Given the description of an element on the screen output the (x, y) to click on. 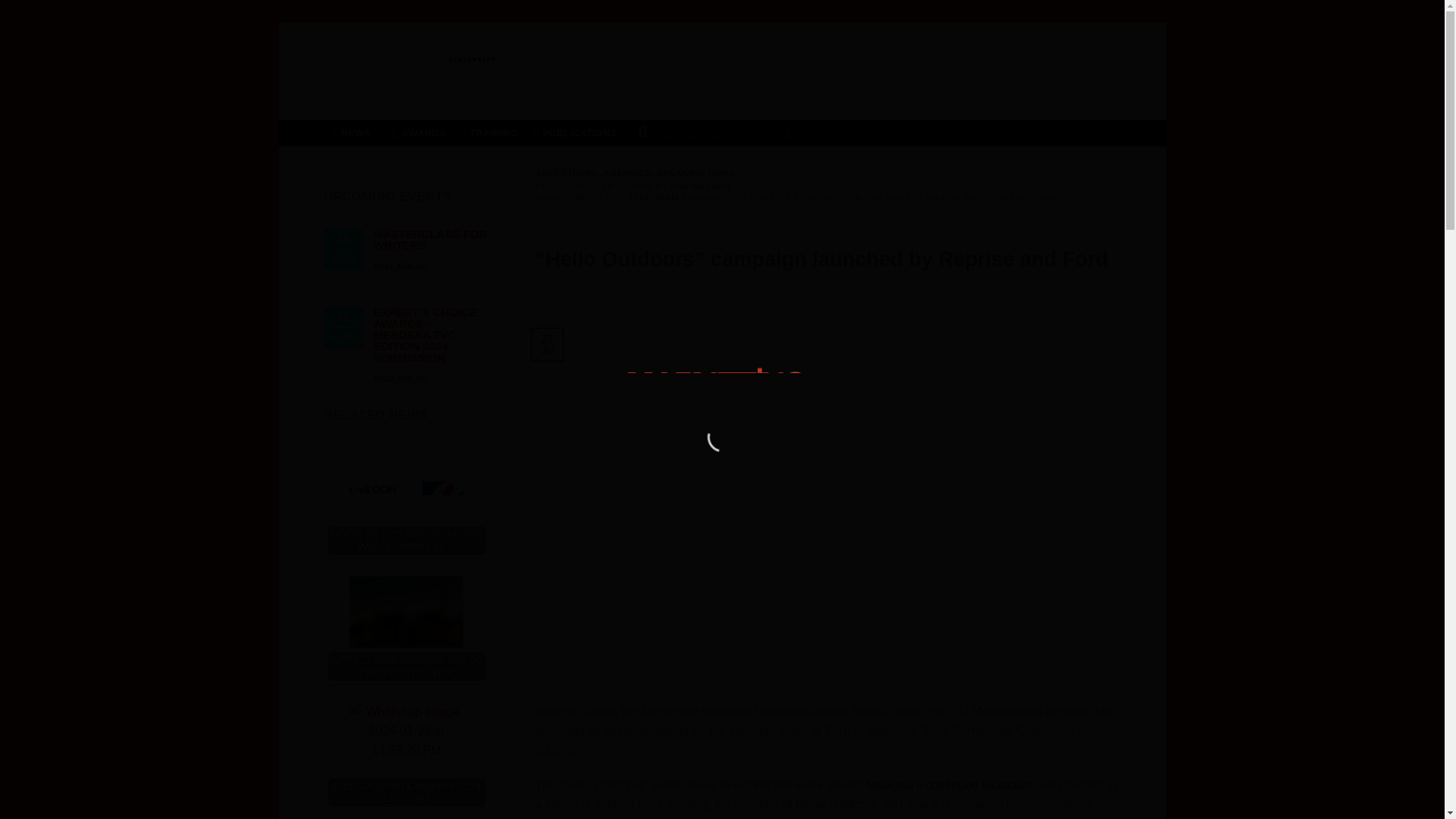
NEWS (354, 133)
AWARDS (418, 133)
45th IAA World Congress 2024 Launched (406, 758)
APPIES 2024 launched with 20 categories this year (406, 633)
TRAINING (488, 133)
APPIES 2024 launched with 20 categories this year (405, 628)
45th IAA World Congress 2024 Launched (405, 754)
MASTERCLASS FOR WRITERS (429, 239)
Masterclass for Writers (429, 239)
PUBLICATIONS (577, 133)
